Given the description of an element on the screen output the (x, y) to click on. 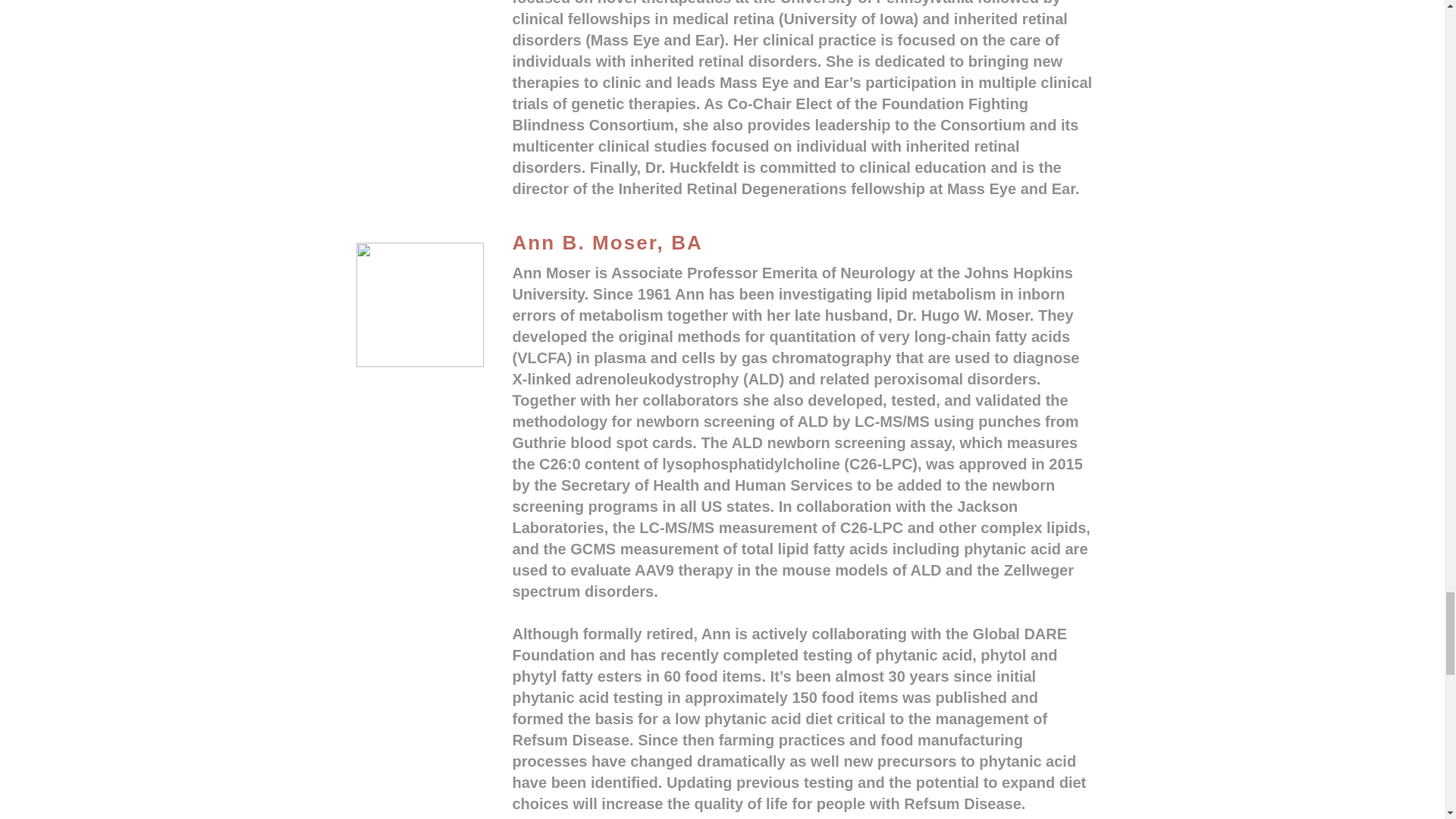
Ann Moser.jpg (419, 304)
